Given the description of an element on the screen output the (x, y) to click on. 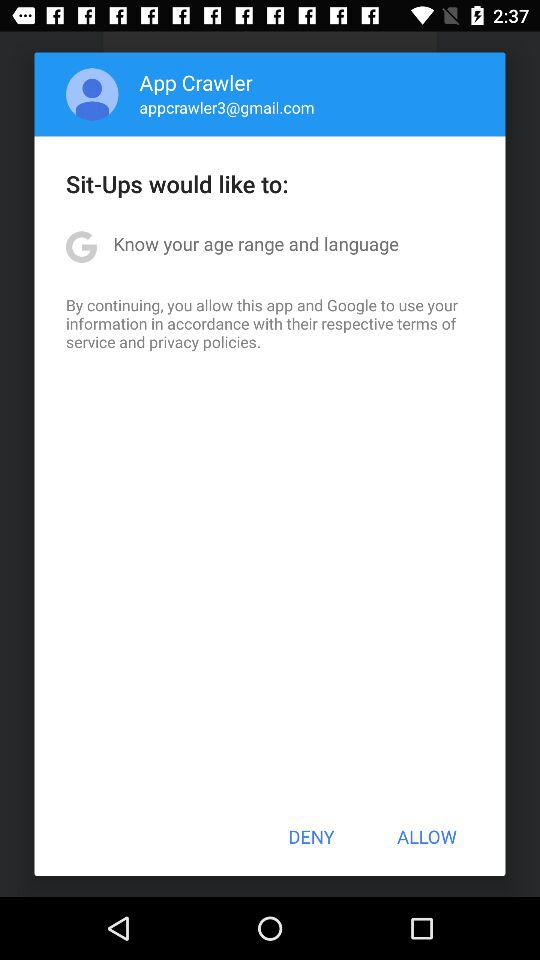
turn on the app below app crawler item (226, 107)
